Given the description of an element on the screen output the (x, y) to click on. 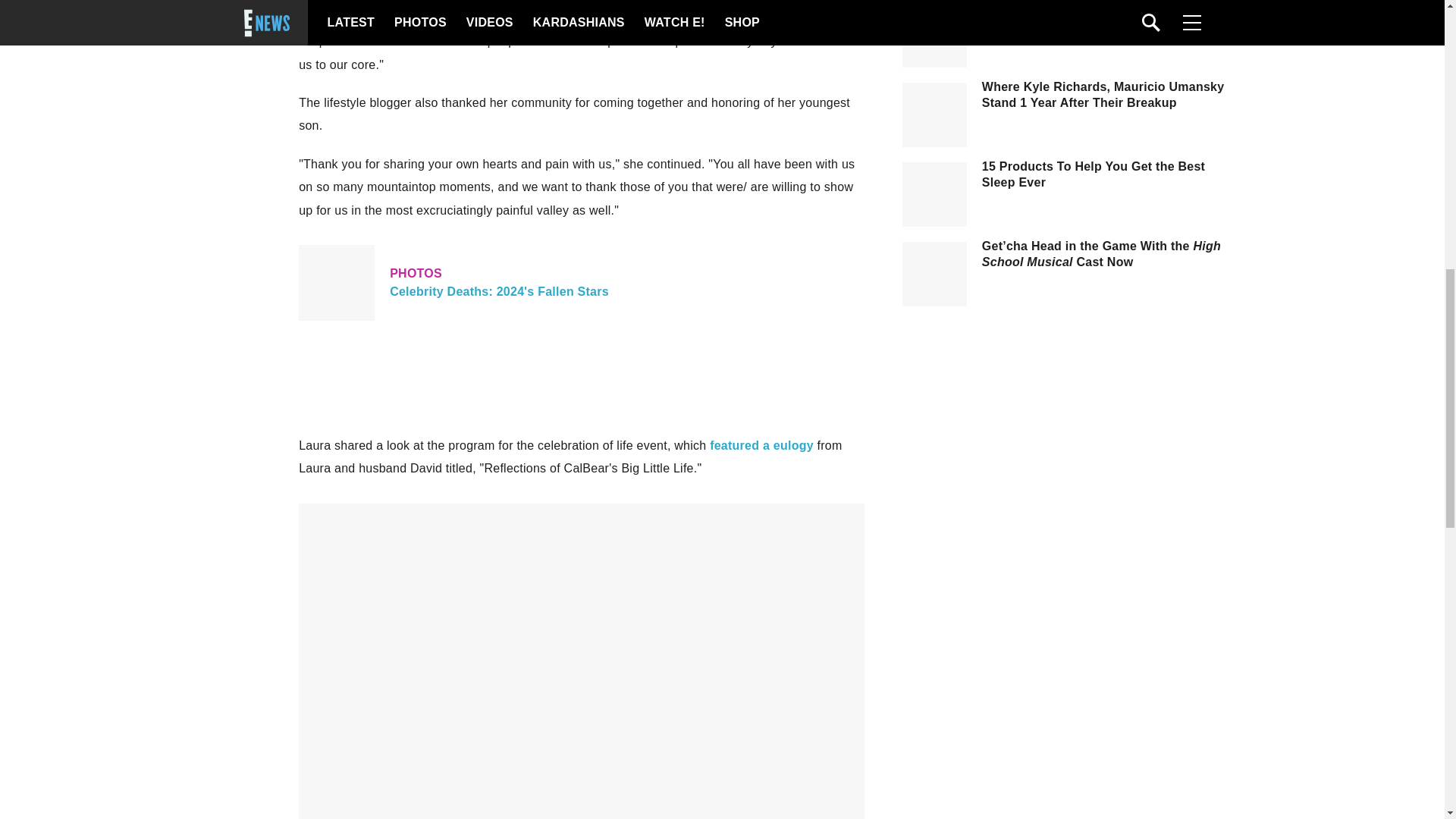
shared on Instagram Stories Feb. 26 (581, 282)
featured a eulogy (579, 12)
